Given the description of an element on the screen output the (x, y) to click on. 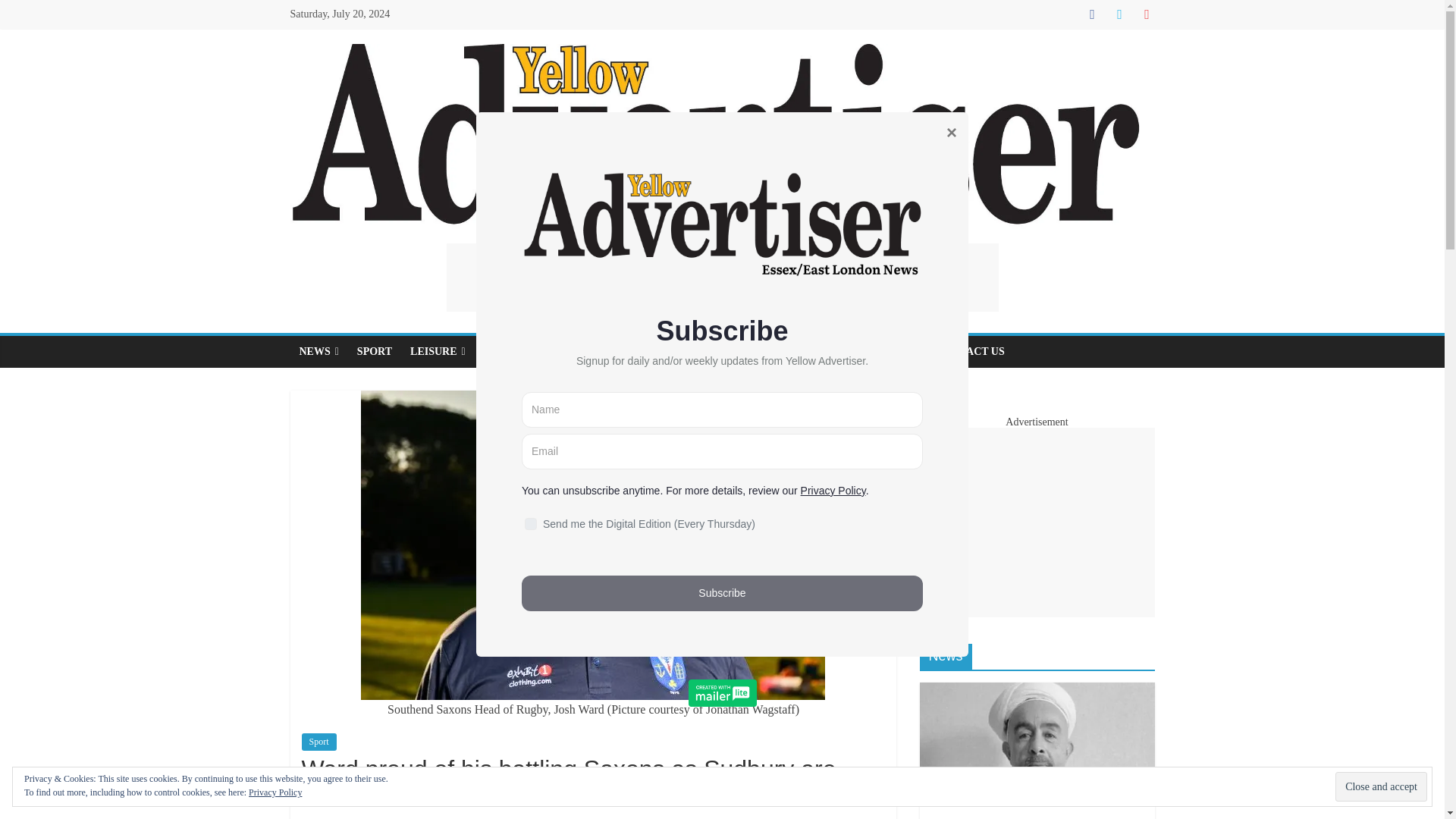
NEWS (318, 351)
MORE (897, 351)
Advertisement (721, 277)
FEATURES (594, 351)
COLUMNIST (515, 351)
Close and accept (1380, 786)
LEISURE (437, 351)
SPORT (374, 351)
Brian Jeeves (395, 818)
DIGITAL EDITION (811, 351)
8:51 pm (325, 818)
